Given the description of an element on the screen output the (x, y) to click on. 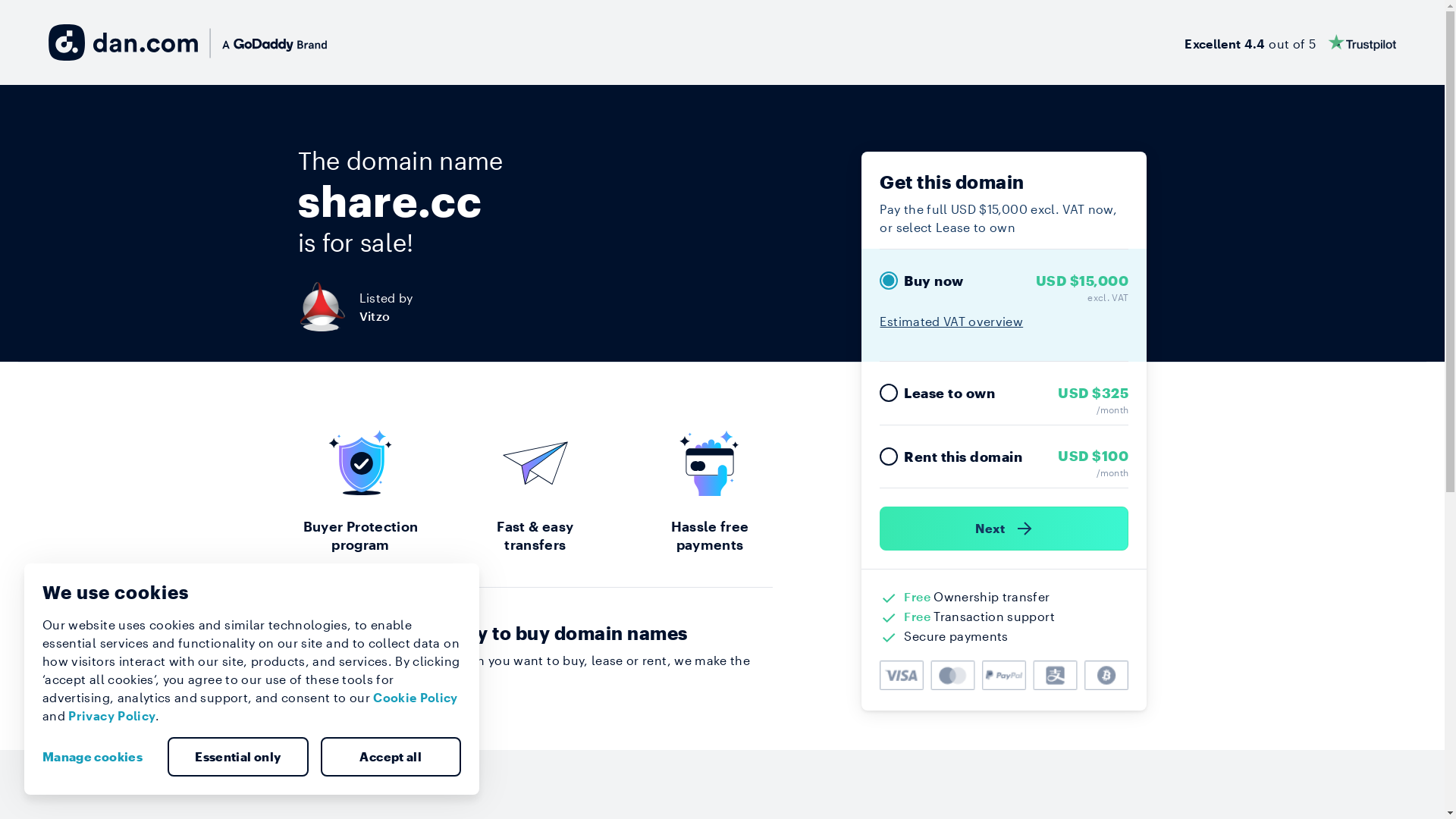
Cookie Policy Element type: text (415, 697)
Essential only Element type: text (237, 756)
Next
) Element type: text (1003, 528)
Privacy Policy Element type: text (111, 715)
Manage cookies Element type: text (98, 756)
Estimated VAT overview Element type: text (950, 320)
Accept all Element type: text (390, 756)
Excellent 4.4 out of 5 Element type: text (1290, 42)
